Given the description of an element on the screen output the (x, y) to click on. 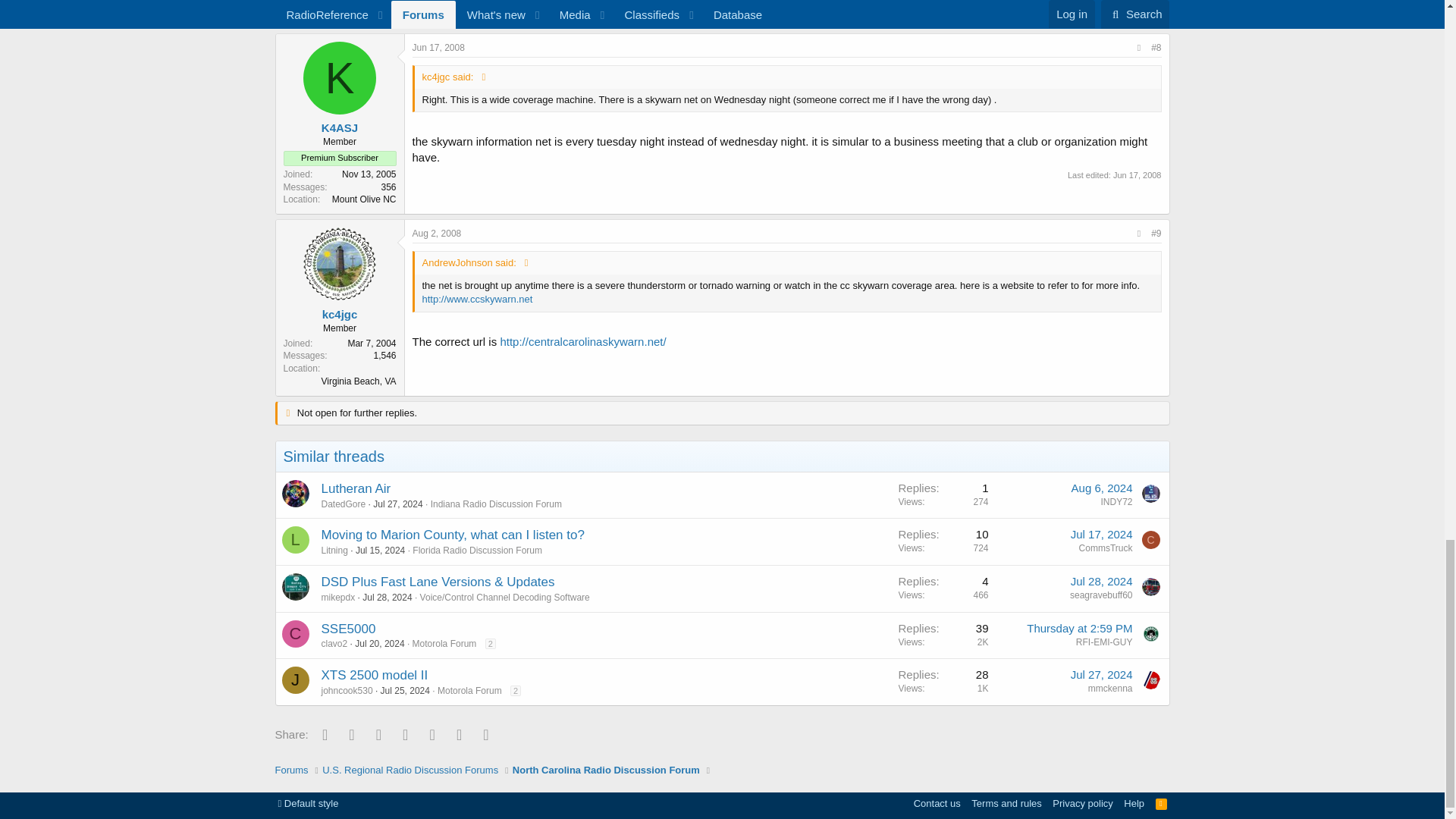
Jul 27, 2024 at 9:14 PM (397, 503)
Jun 17, 2008 at 5:30 PM (1137, 174)
Aug 6, 2024 at 5:26 PM (1101, 487)
Aug 2, 2008 at 5:10 PM (436, 233)
Jun 17, 2008 at 4:54 PM (438, 47)
First message reaction score: 0 (942, 495)
